Given the description of an element on the screen output the (x, y) to click on. 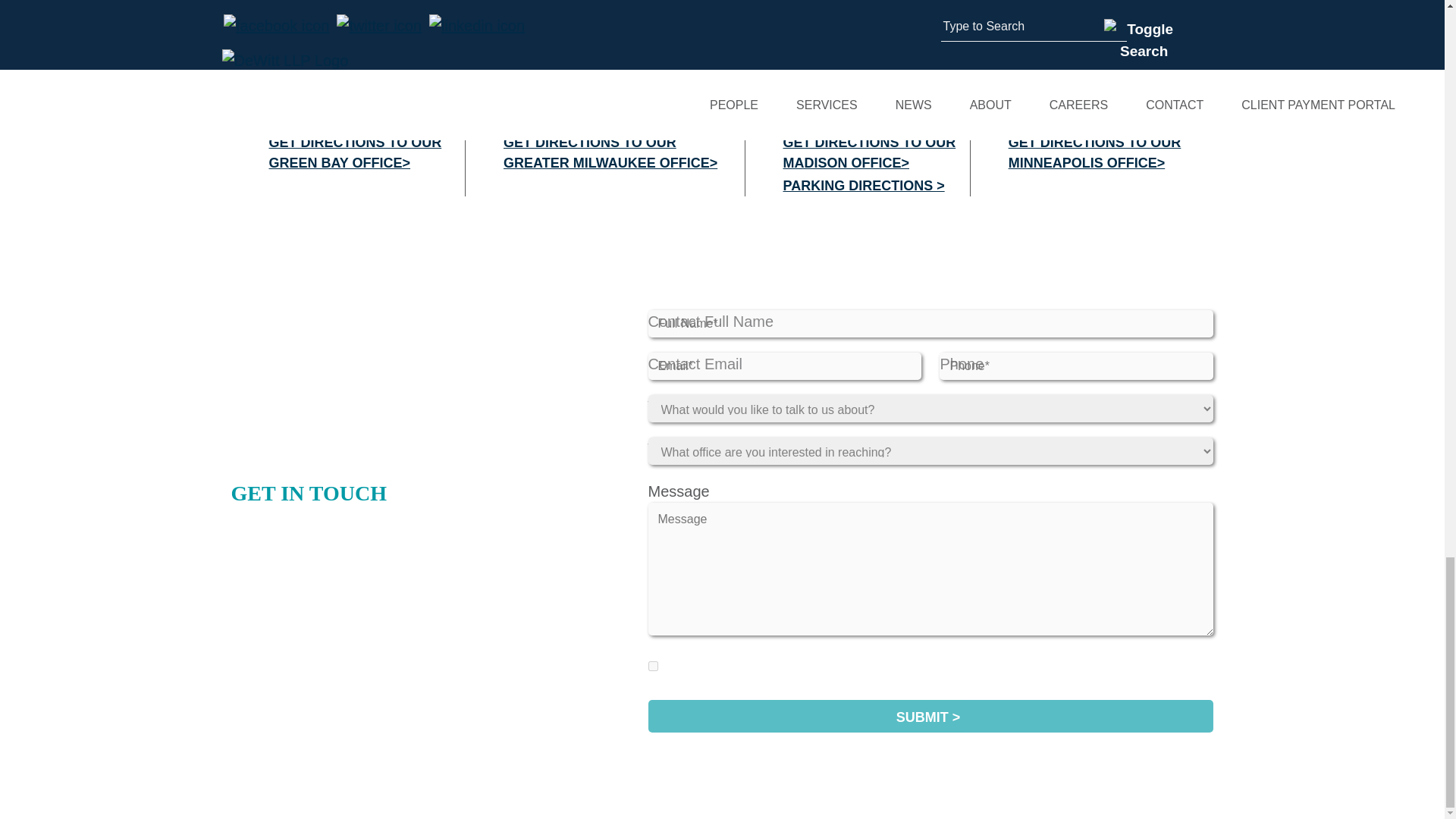
608.255.8891 (876, 119)
262.754.2840 (623, 119)
See Full Terms (1168, 666)
I agree to the terms (652, 665)
920.499.5700 (365, 119)
612.305.1400 (1111, 119)
